Given the description of an element on the screen output the (x, y) to click on. 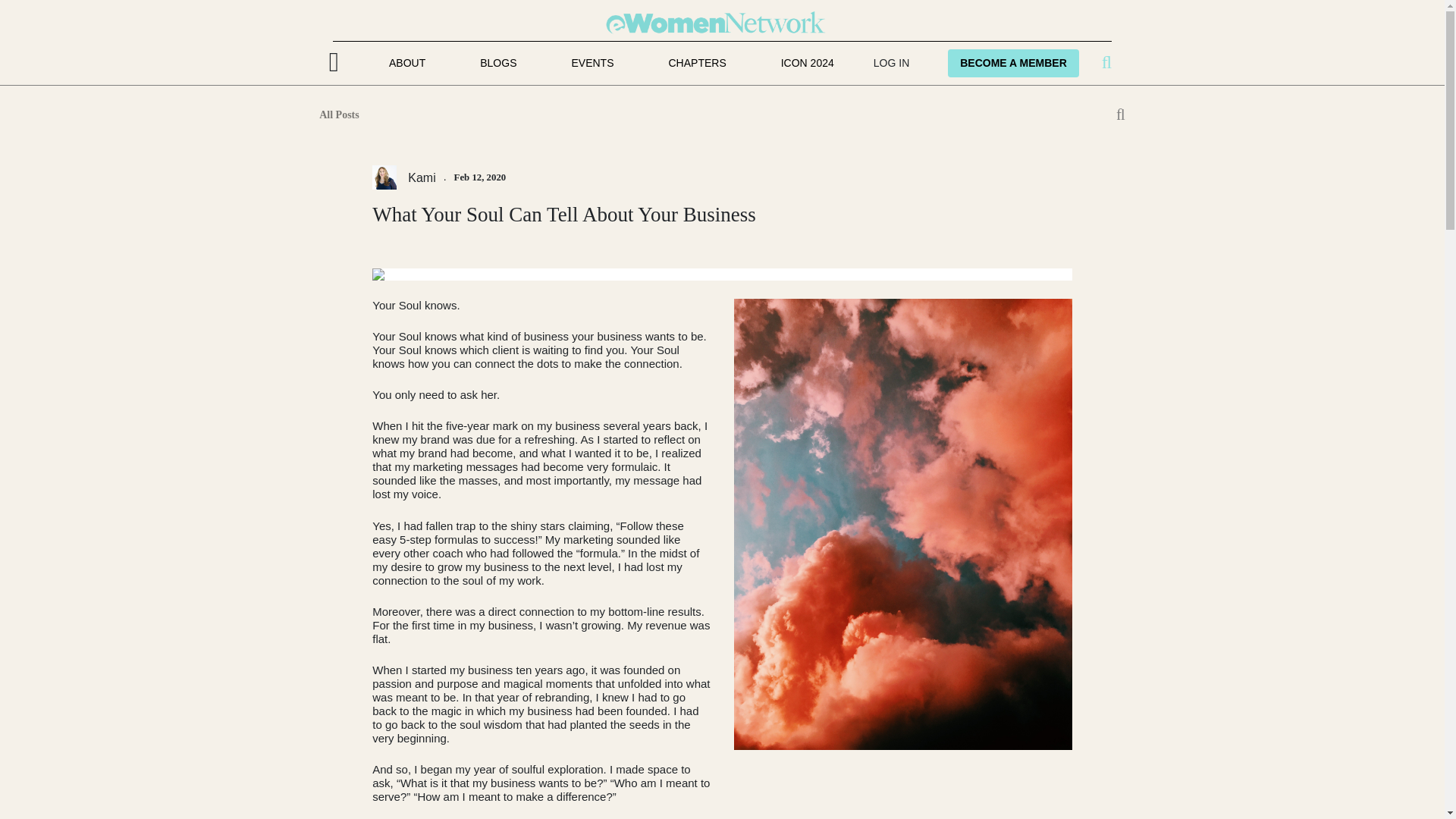
What Your Soul Can Tell About Your Business (721, 224)
